Given the description of an element on the screen output the (x, y) to click on. 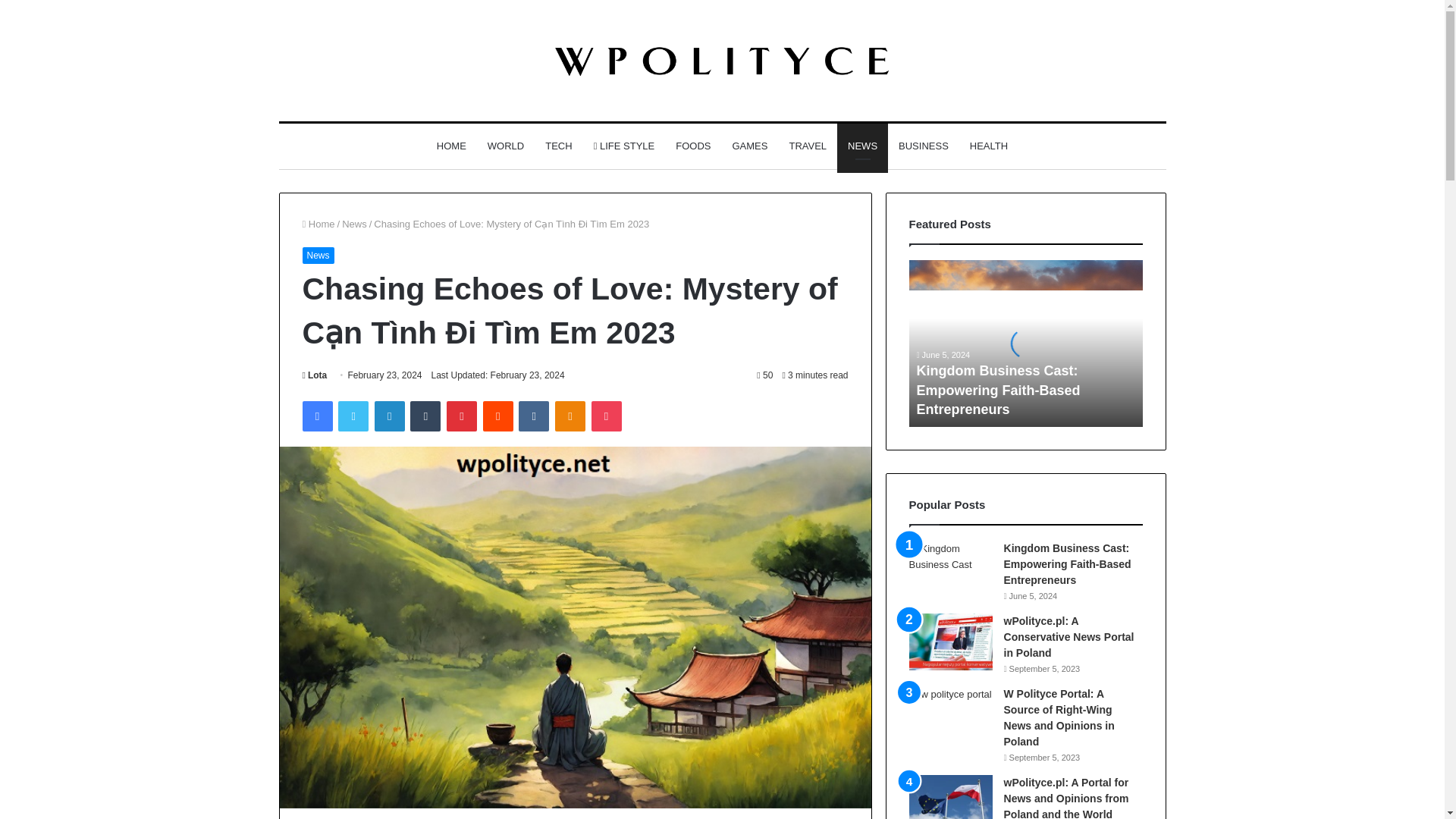
LinkedIn (389, 416)
TRAVEL (807, 145)
Twitter (352, 416)
News (354, 224)
VKontakte (533, 416)
Odnoklassniki (569, 416)
BUSINESS (923, 145)
HOME (451, 145)
Home (317, 224)
Pinterest (461, 416)
